Given the description of an element on the screen output the (x, y) to click on. 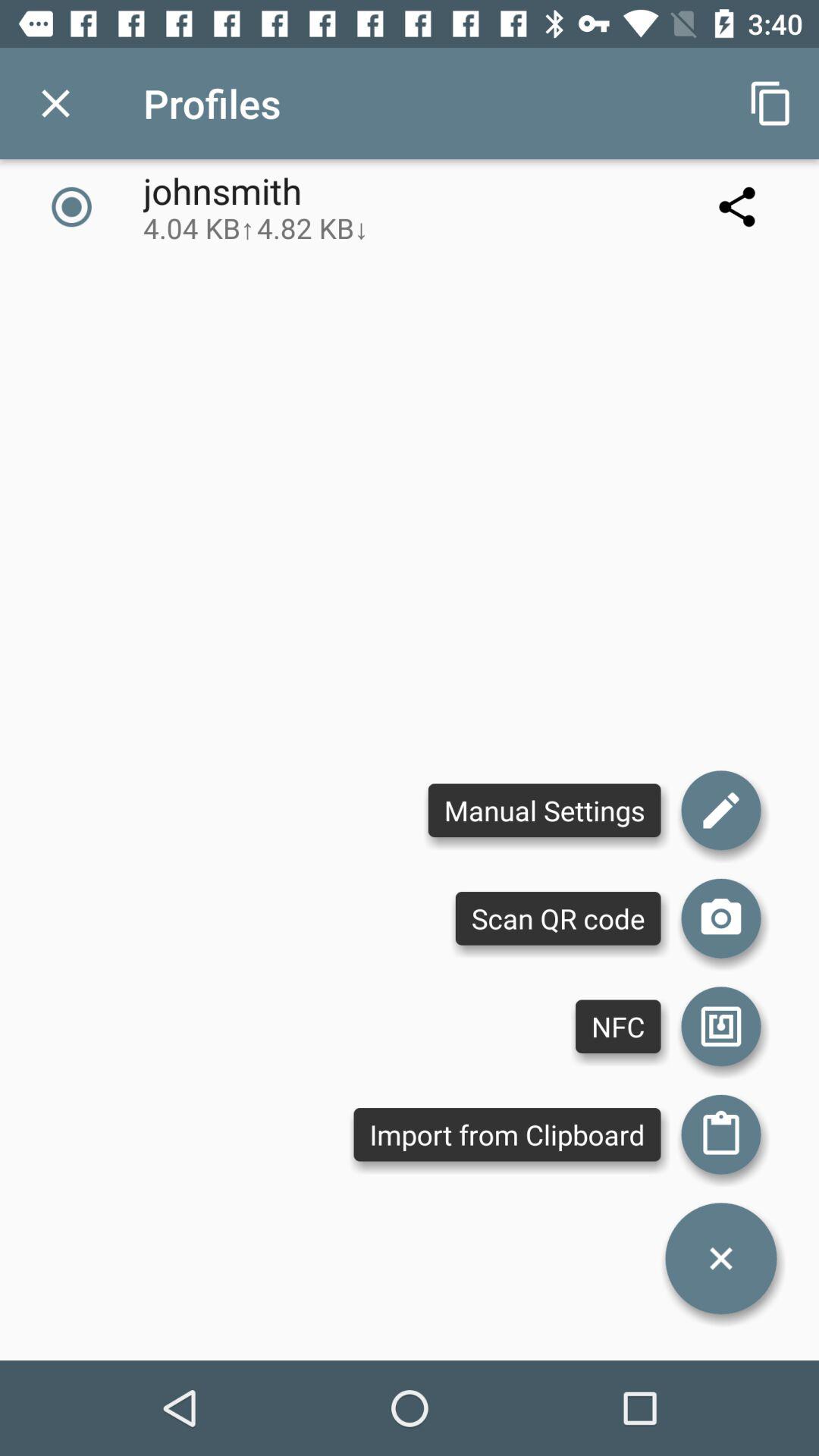
scroll to the import from clipboard icon (507, 1134)
